Given the description of an element on the screen output the (x, y) to click on. 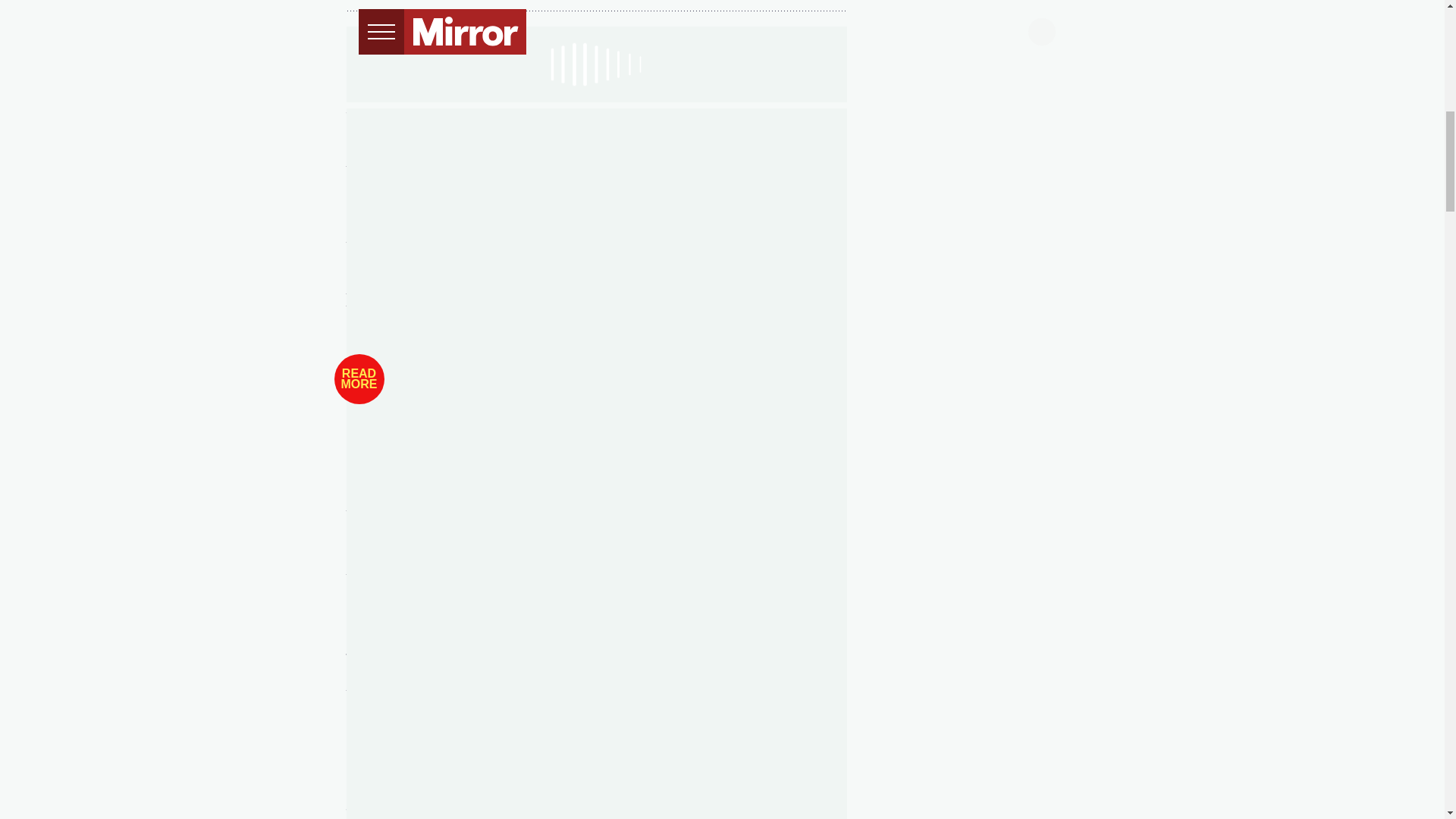
Channel 4 (478, 180)
arthritis (755, 326)
latest series of The Crown lands (485, 162)
Prince Philip (555, 134)
Netflix (622, 162)
